Given the description of an element on the screen output the (x, y) to click on. 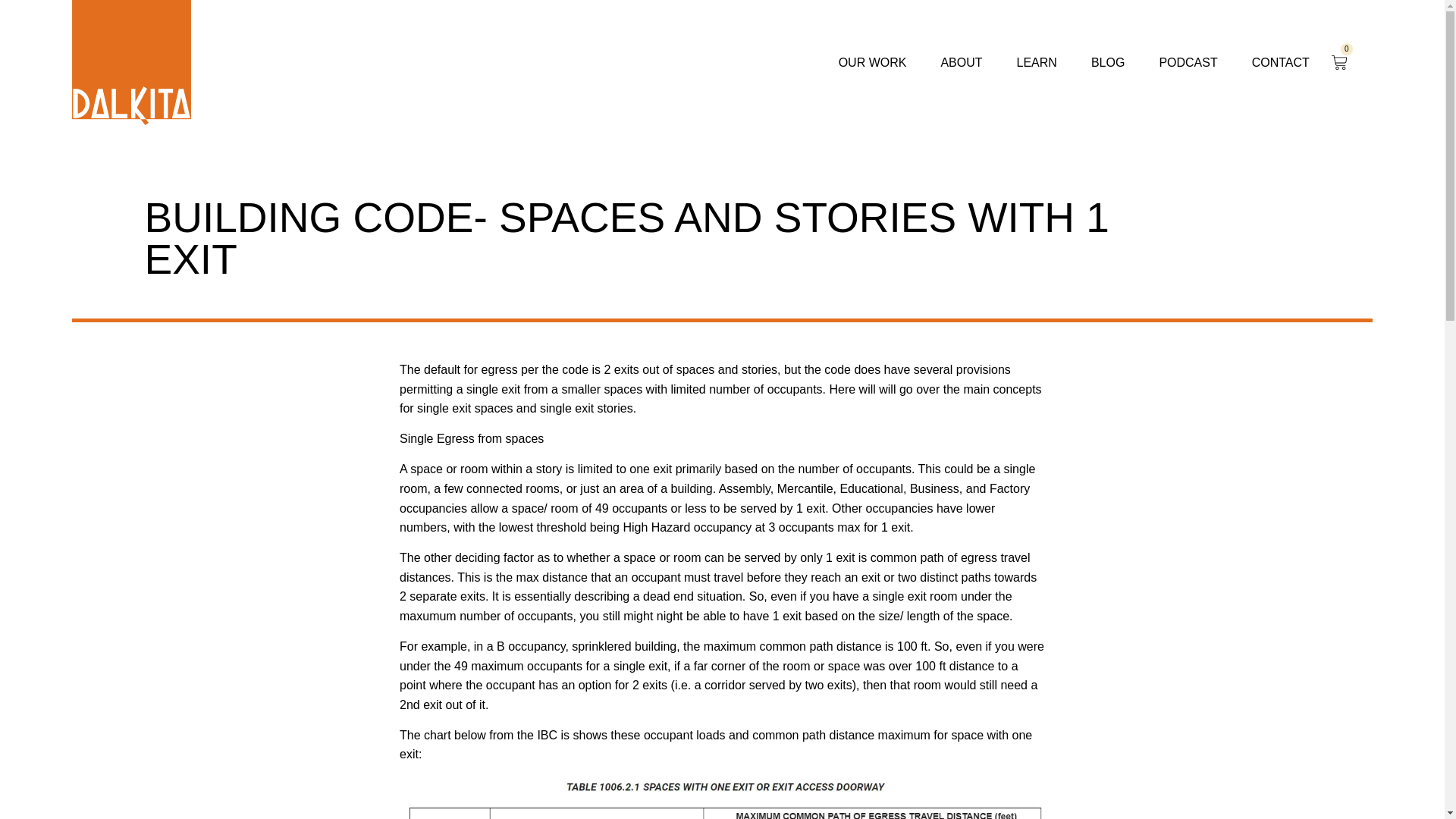
PODCAST (1186, 61)
BLOG (1107, 61)
CONTACT (1280, 61)
OUR WORK (872, 61)
LEARN (1036, 61)
ABOUT (960, 61)
